Given the description of an element on the screen output the (x, y) to click on. 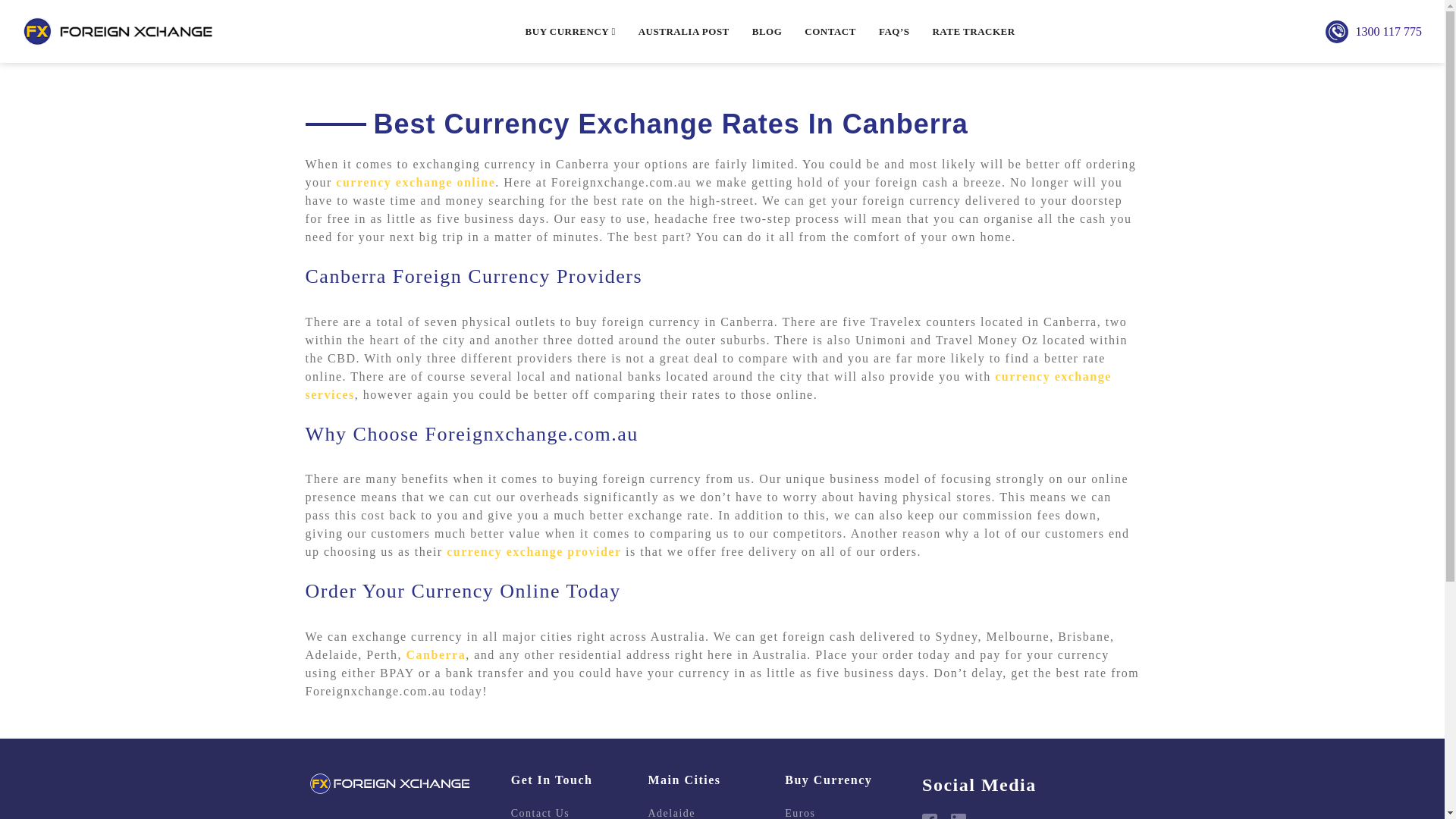
Contact Us (564, 811)
Canberra (435, 654)
currency exchange provider (533, 551)
BUY CURRENCY (570, 31)
1300 117 775 (1388, 30)
currency exchange online (415, 182)
RATE TRACKER (972, 31)
AUSTRALIA POST (684, 31)
currency exchange services (707, 385)
